Given the description of an element on the screen output the (x, y) to click on. 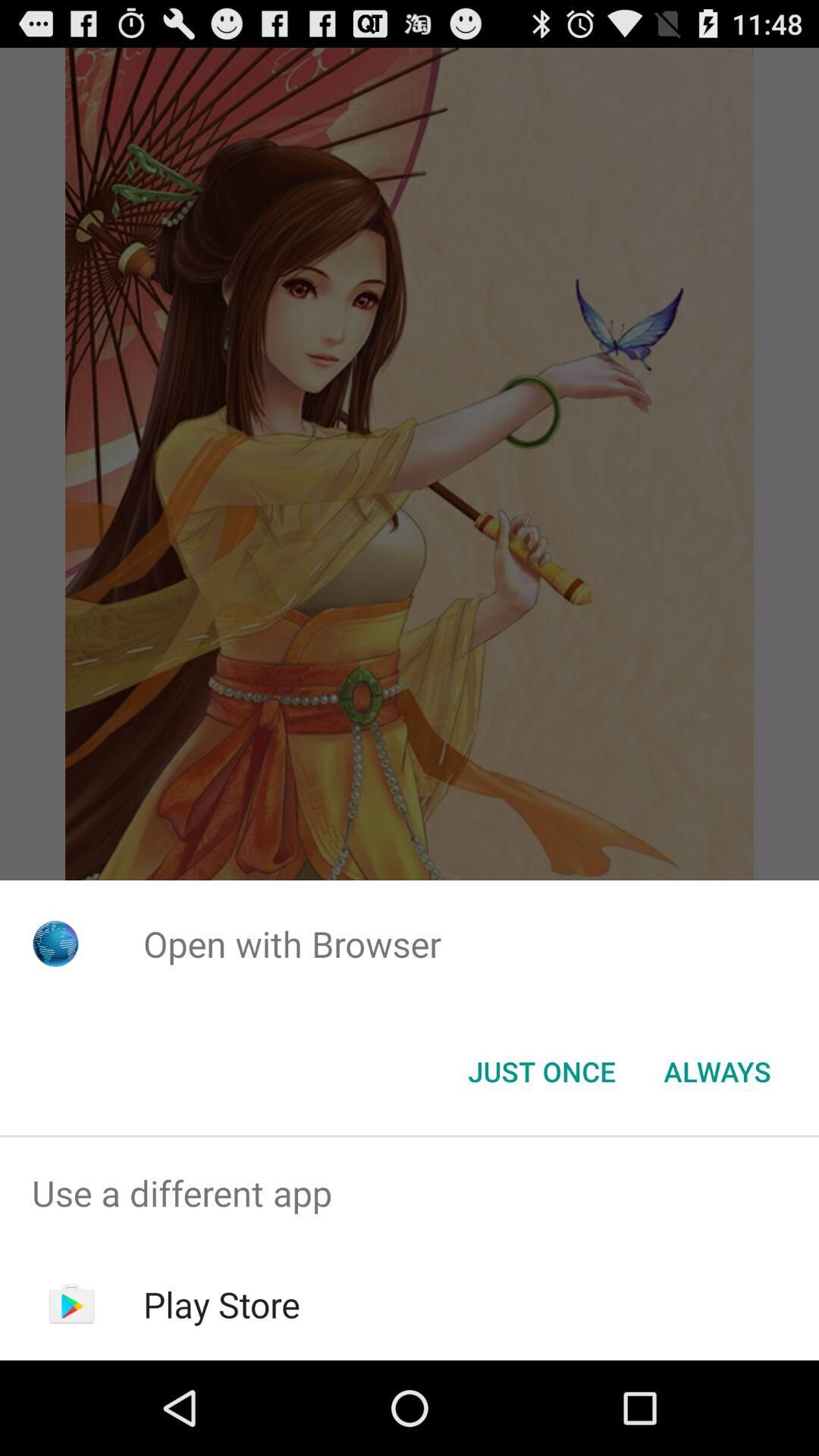
turn on the play store app (221, 1304)
